Given the description of an element on the screen output the (x, y) to click on. 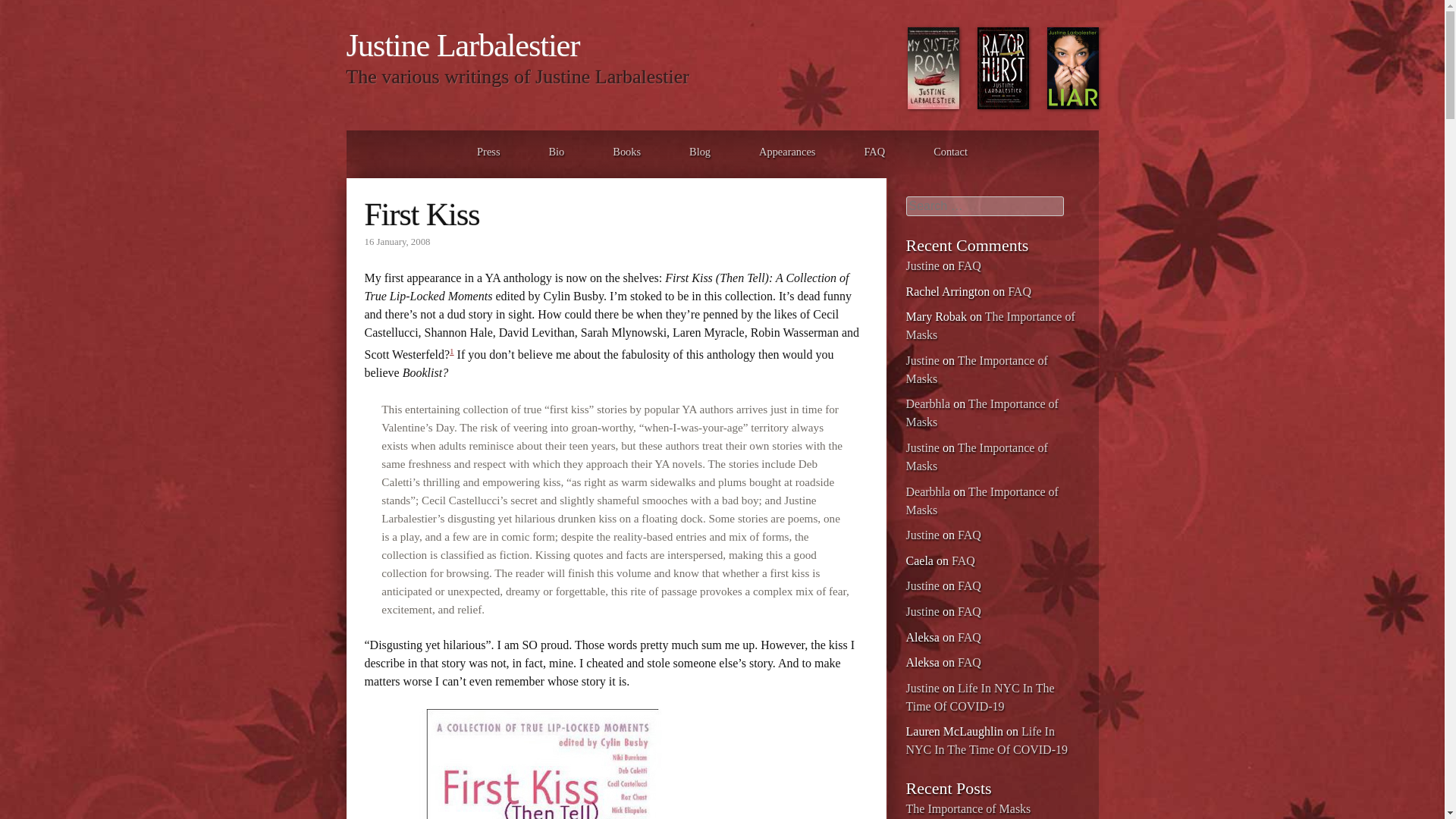
Blog (699, 151)
Press (488, 151)
Justine Larbalestier (462, 45)
Skip to content (382, 151)
Appearances (786, 151)
Books (626, 151)
Justine Larbalestier (462, 45)
Skip to content (382, 151)
